Given the description of an element on the screen output the (x, y) to click on. 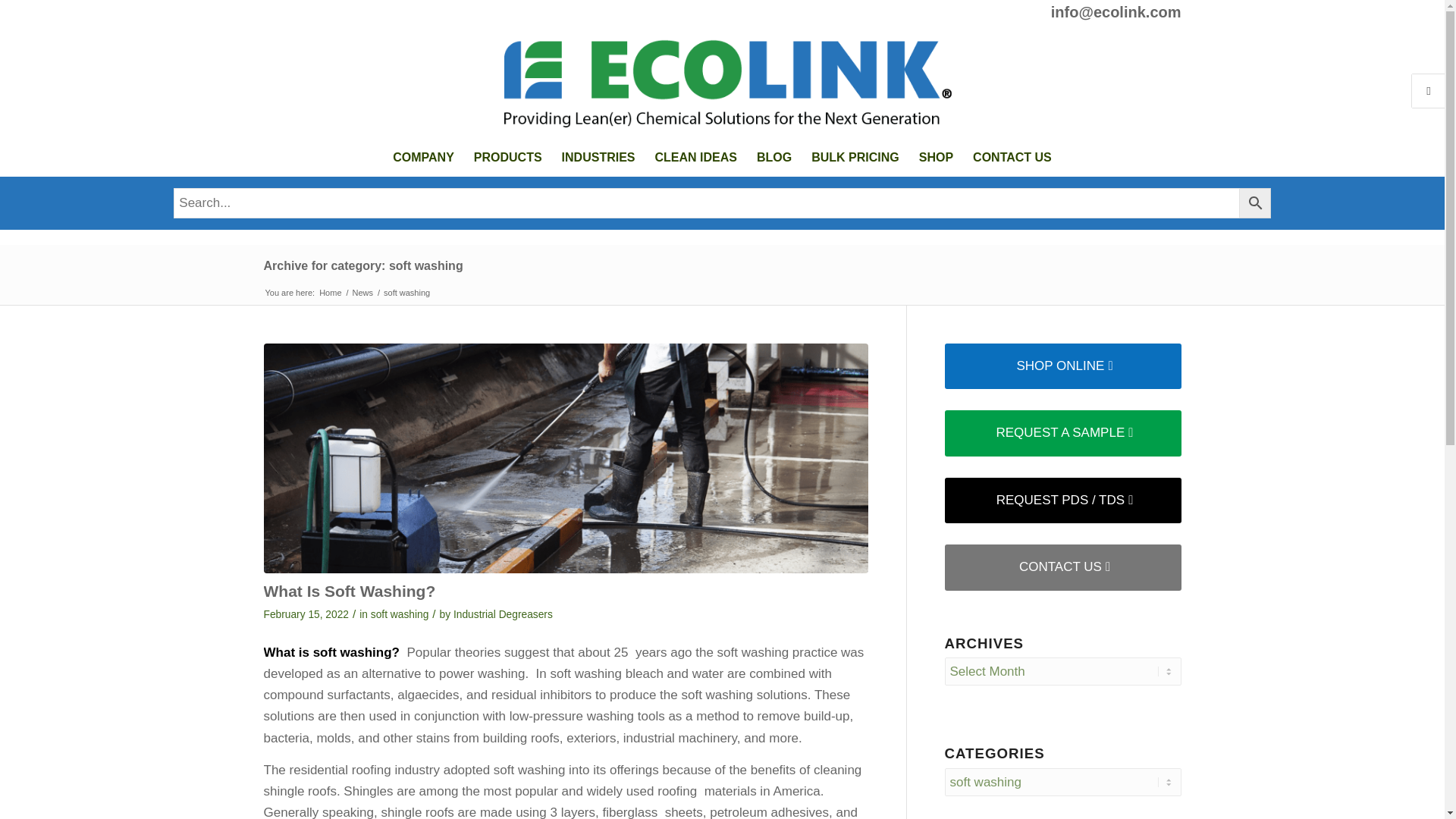
BULK PRICING (855, 157)
INDUSTRIES (598, 157)
PRODUCTS (507, 157)
COMPANY (423, 157)
BLOG (774, 157)
CLEAN IDEAS (695, 157)
News (362, 292)
Permanent Link: Archive for category: soft washing (363, 265)
Posts by Industrial Degreasers (502, 614)
